Given the description of an element on the screen output the (x, y) to click on. 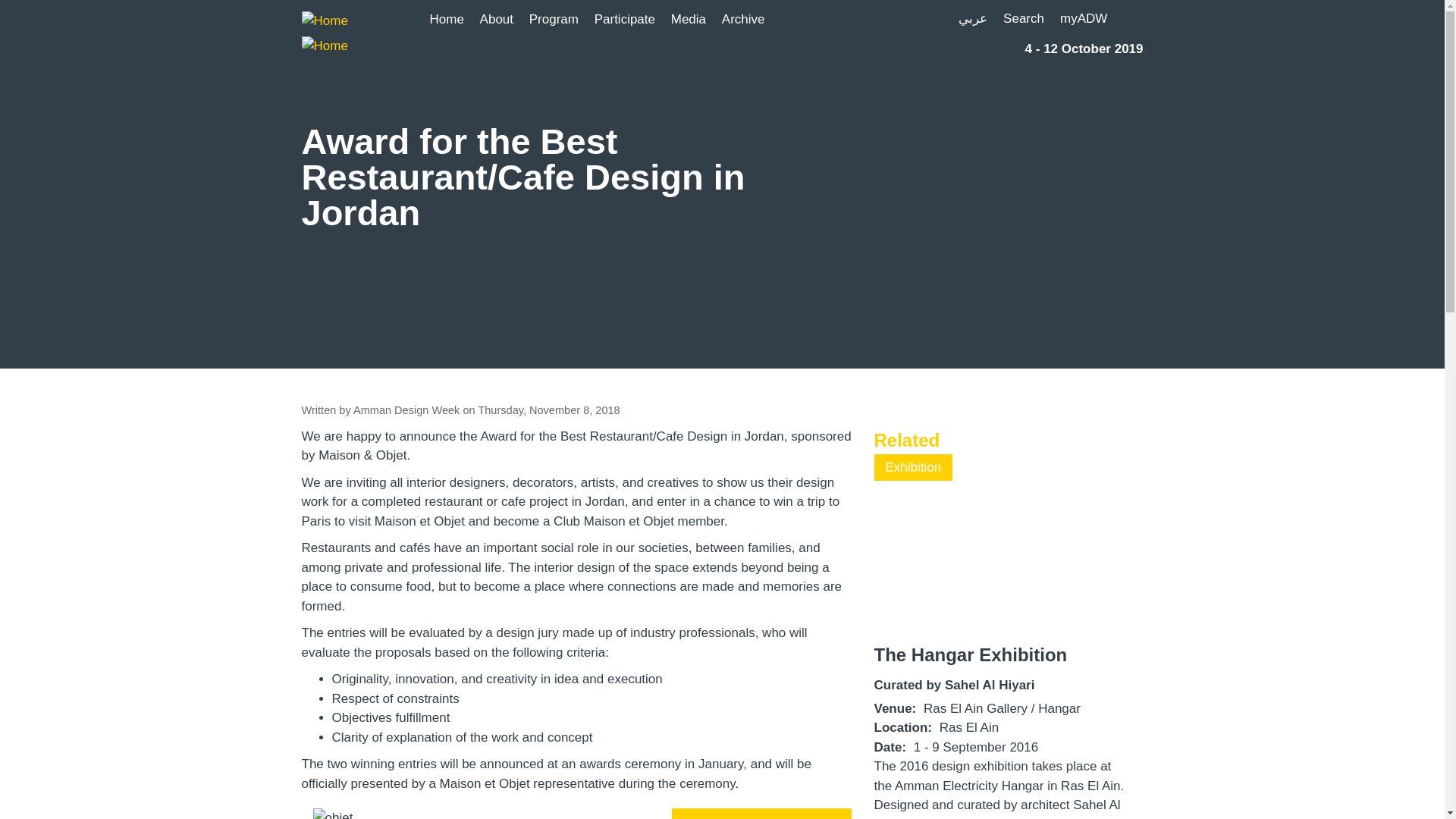
myADW (1083, 18)
Home (348, 29)
Program (553, 22)
Participate (624, 22)
01-Hangar.jpg (910, 465)
Archive (740, 22)
About (496, 22)
Search (1023, 18)
Home (448, 22)
Media (688, 22)
